Given the description of an element on the screen output the (x, y) to click on. 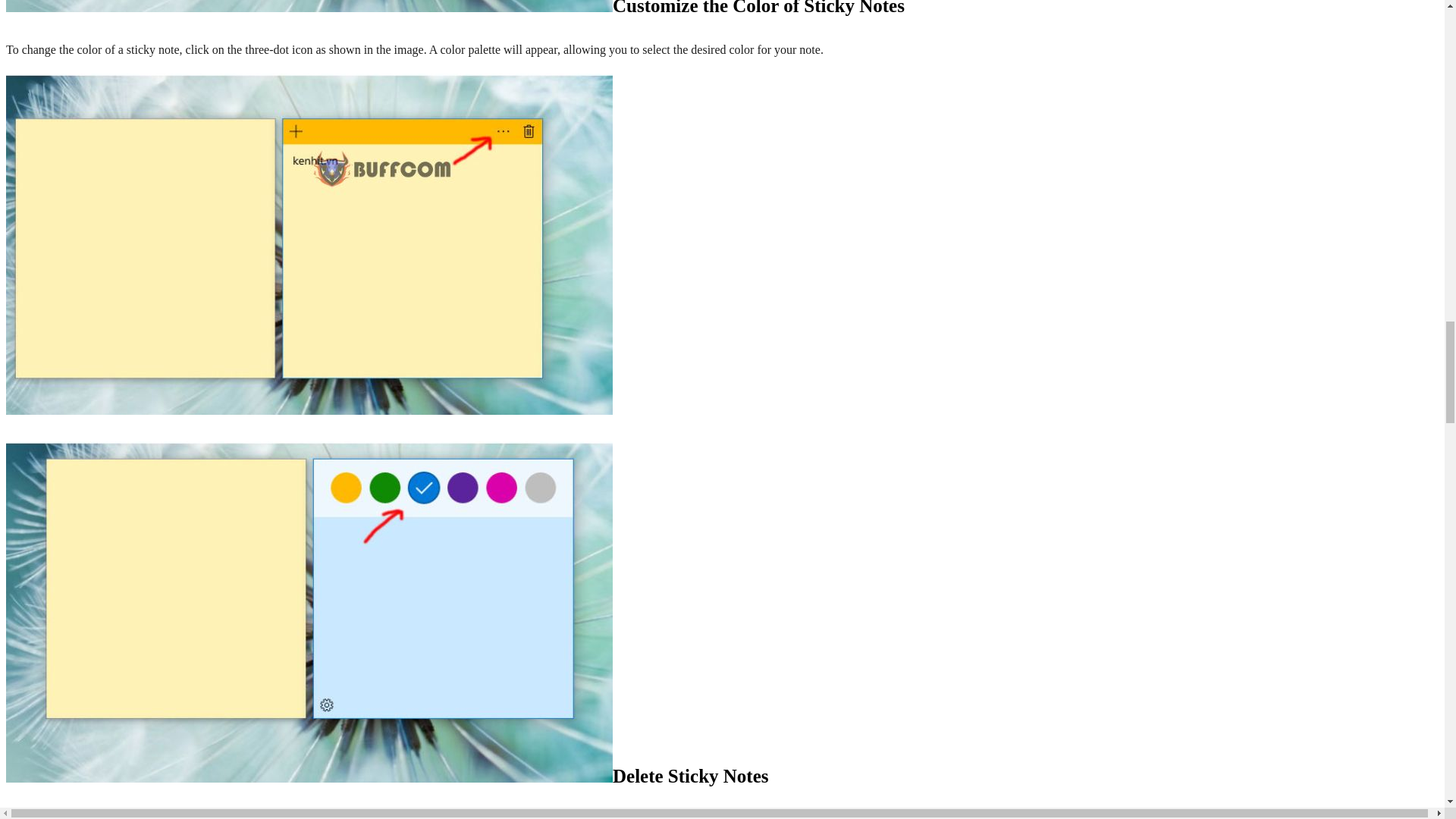
How To Create Sticky Notes On Windows 10 3 (308, 6)
